Given the description of an element on the screen output the (x, y) to click on. 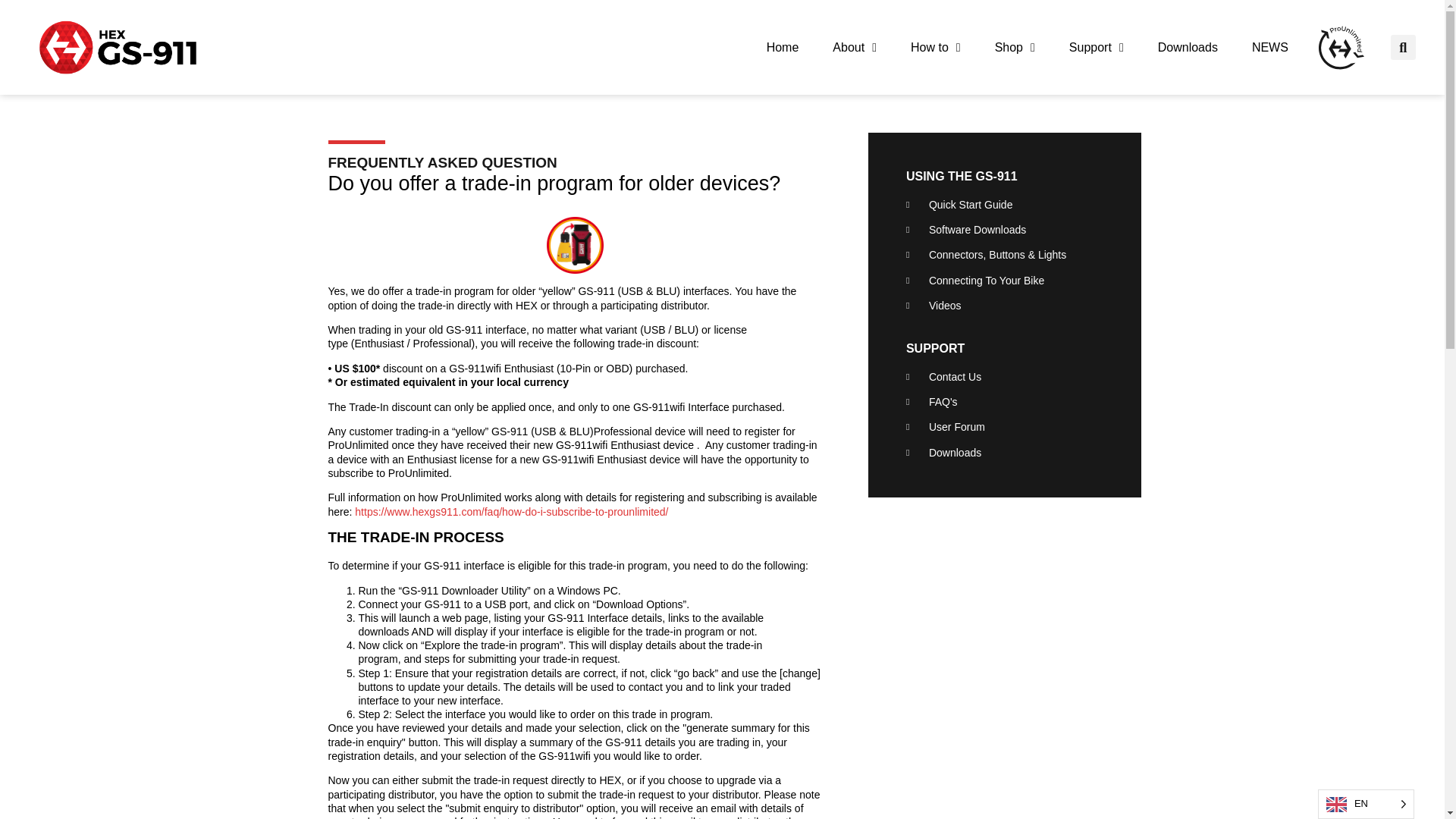
How to (935, 47)
About (853, 47)
Downloads (1187, 47)
NEWS (1269, 47)
Home (782, 47)
Support (1096, 47)
Shop (1014, 47)
